Given the description of an element on the screen output the (x, y) to click on. 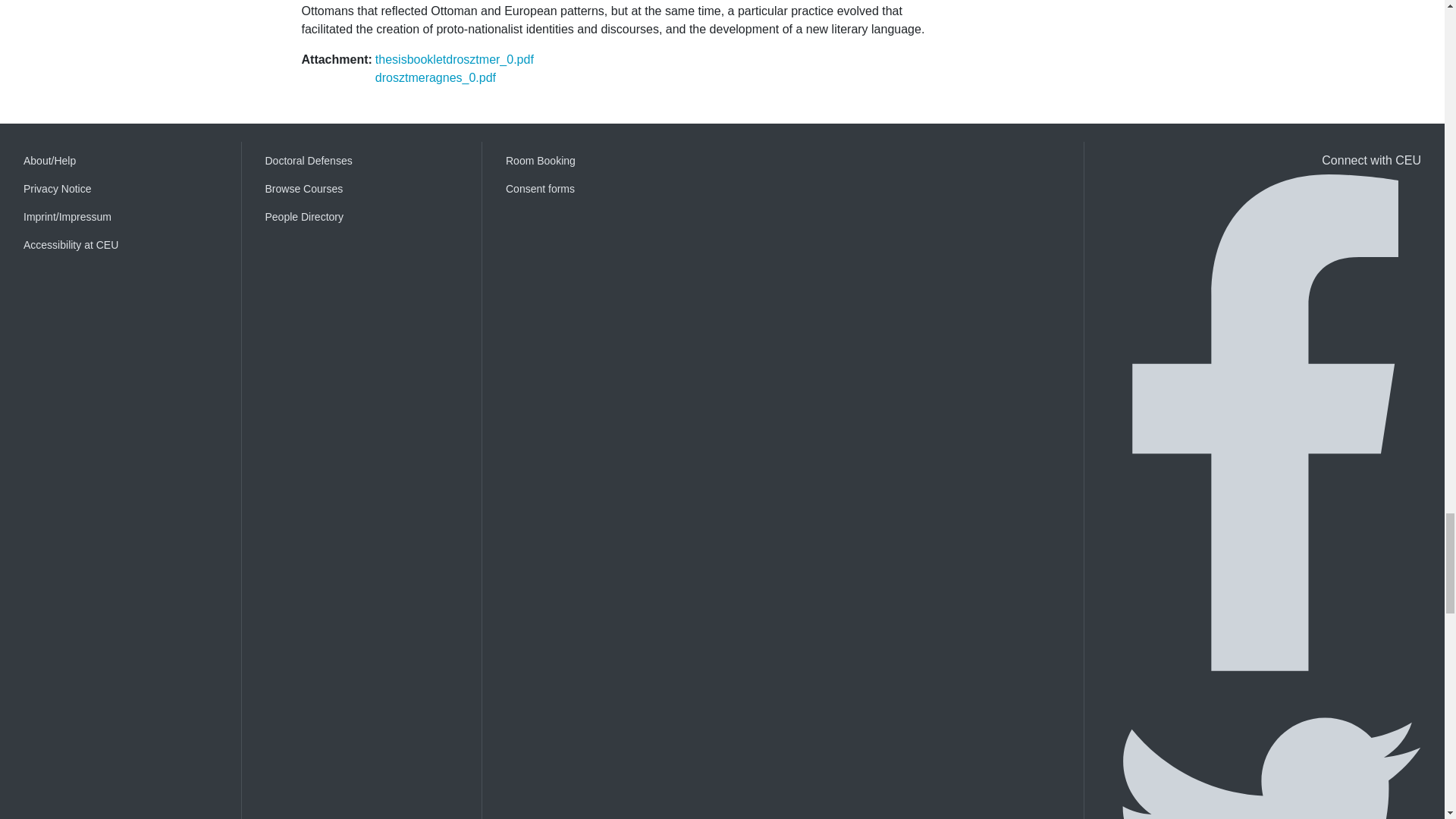
People Directory (361, 216)
Consent forms (602, 189)
Doctoral Defenses (361, 161)
Browse Courses (361, 189)
Room Booking (602, 161)
Privacy Notice (120, 189)
Accessibility at CEU (120, 244)
